Given the description of an element on the screen output the (x, y) to click on. 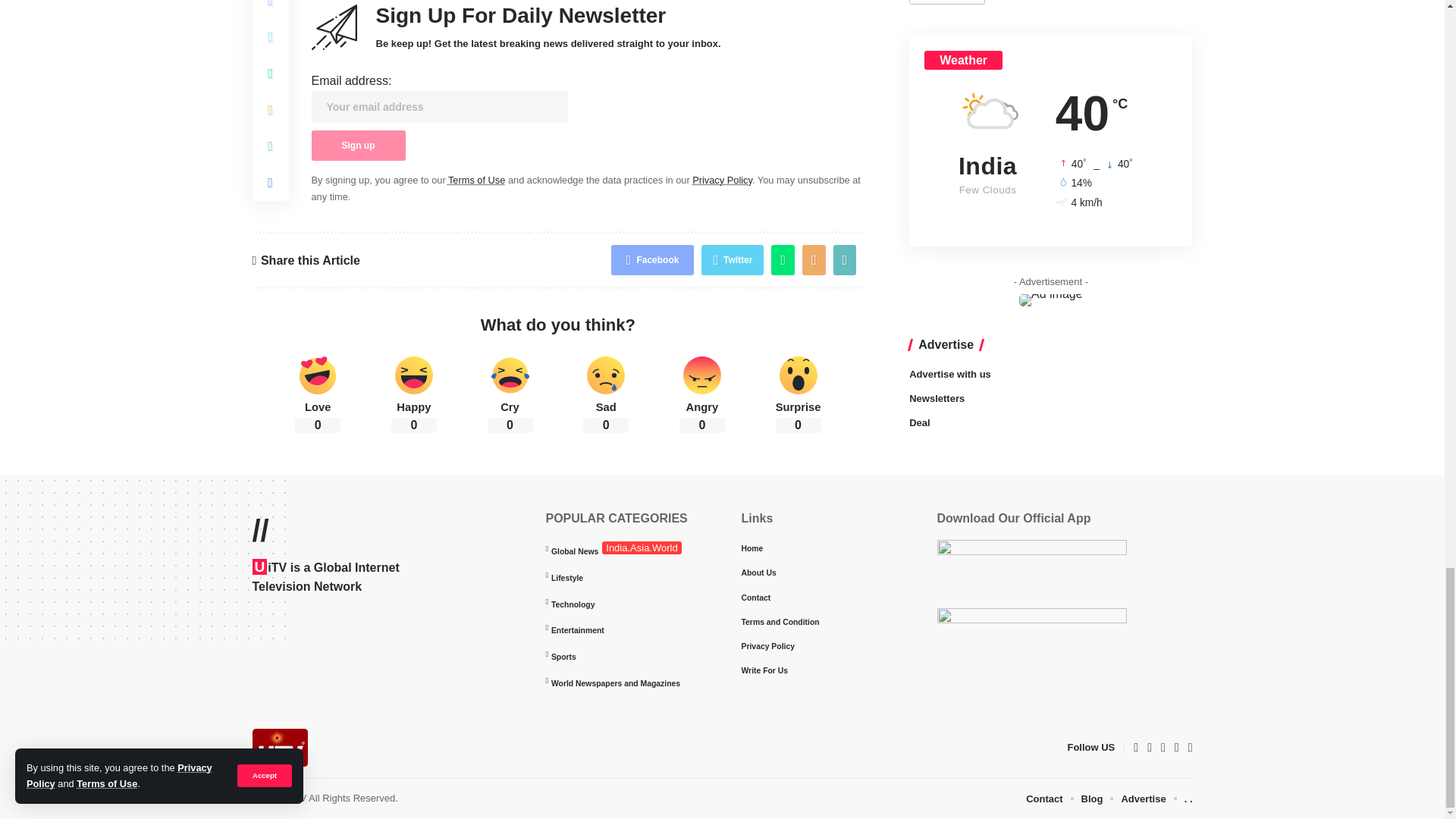
Sign up (357, 145)
